Given the description of an element on the screen output the (x, y) to click on. 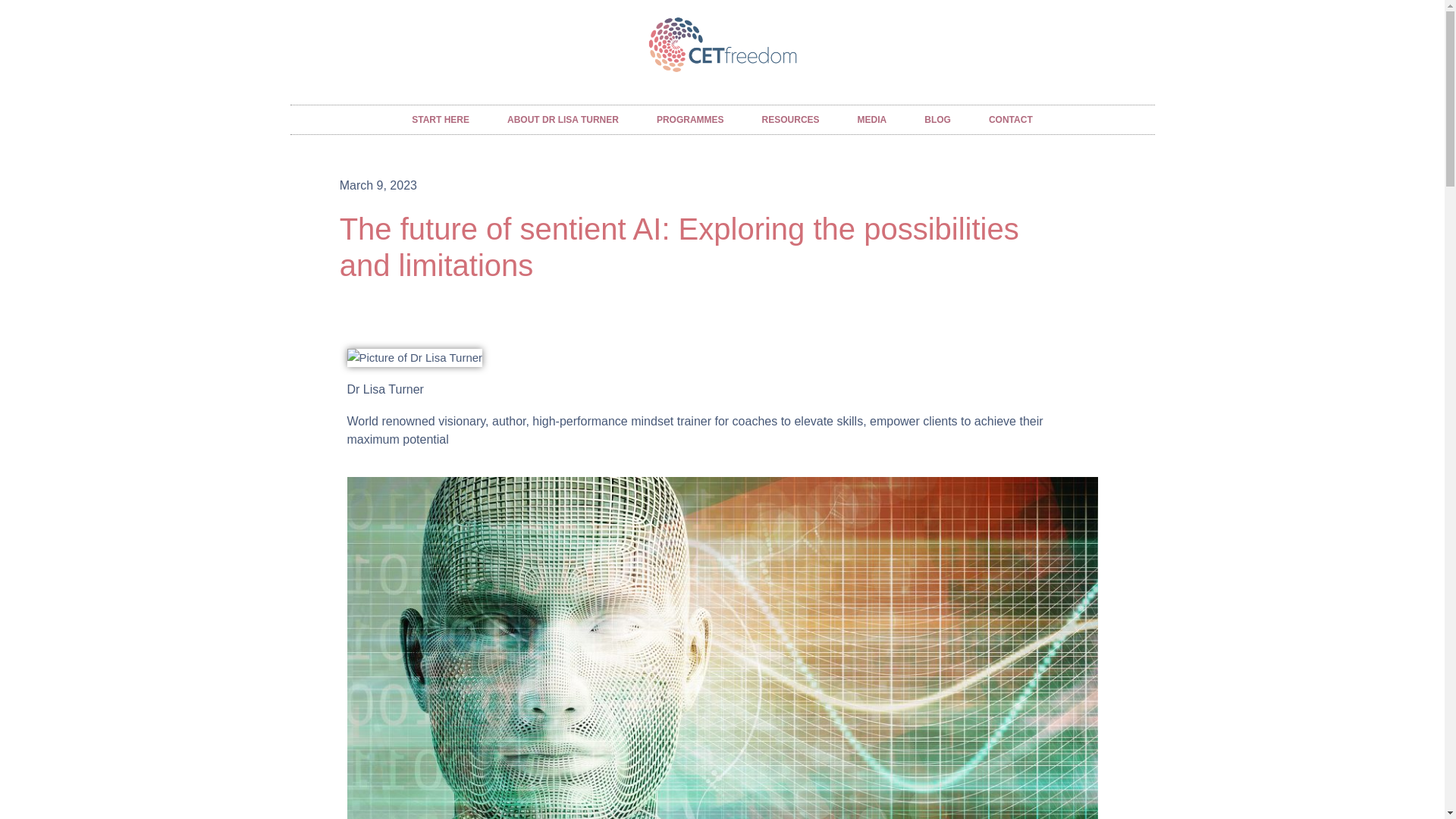
PROGRAMMES (689, 119)
CONTACT (1010, 119)
BLOG (937, 119)
ABOUT DR LISA TURNER (562, 119)
RESOURCES (790, 119)
START HERE (440, 119)
MEDIA (871, 119)
